Given the description of an element on the screen output the (x, y) to click on. 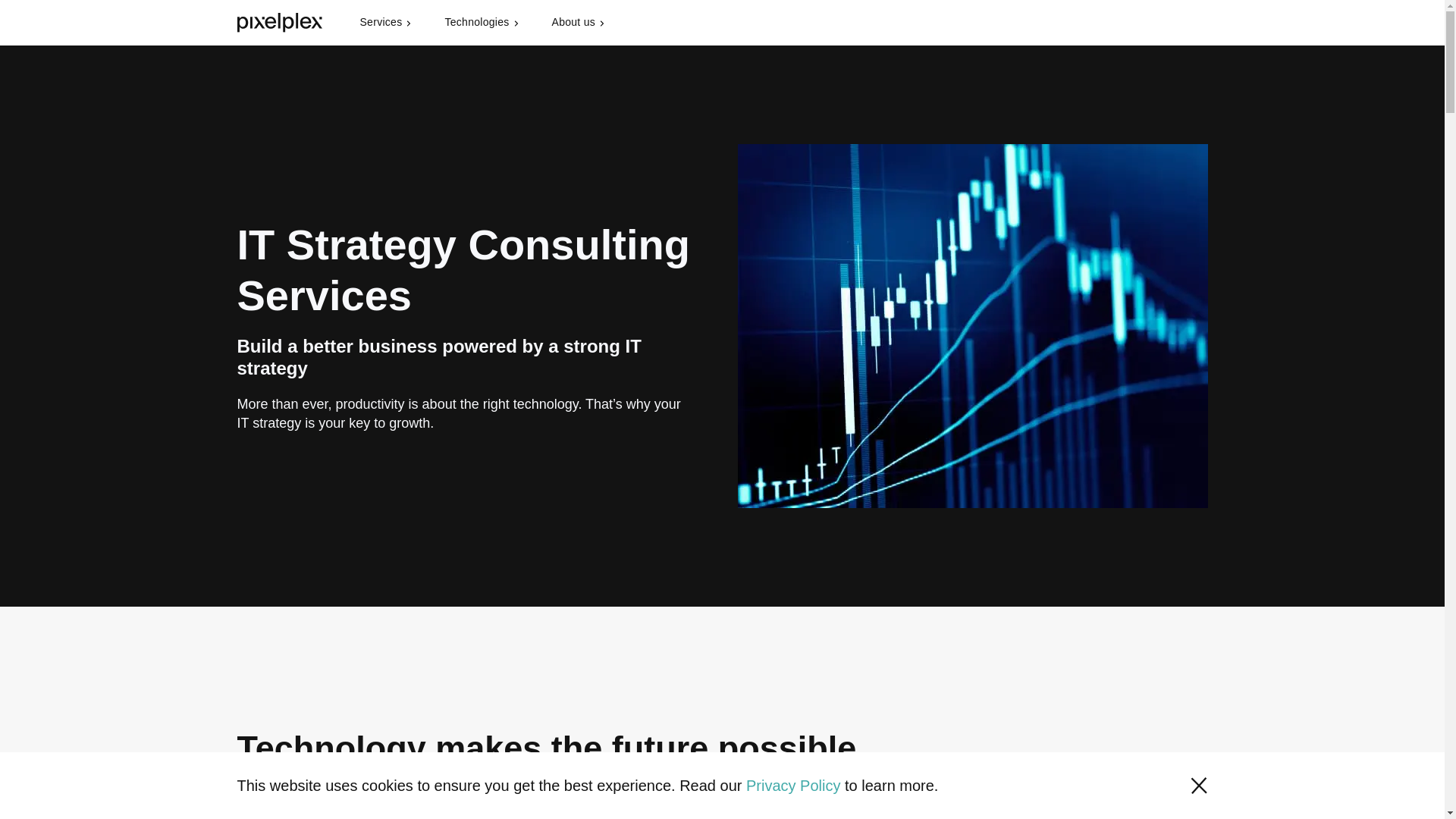
Services (386, 22)
Privacy Policy (792, 785)
Technologies (482, 22)
logo pexelplex (278, 22)
Get in touch (1153, 22)
About us (580, 22)
